Given the description of an element on the screen output the (x, y) to click on. 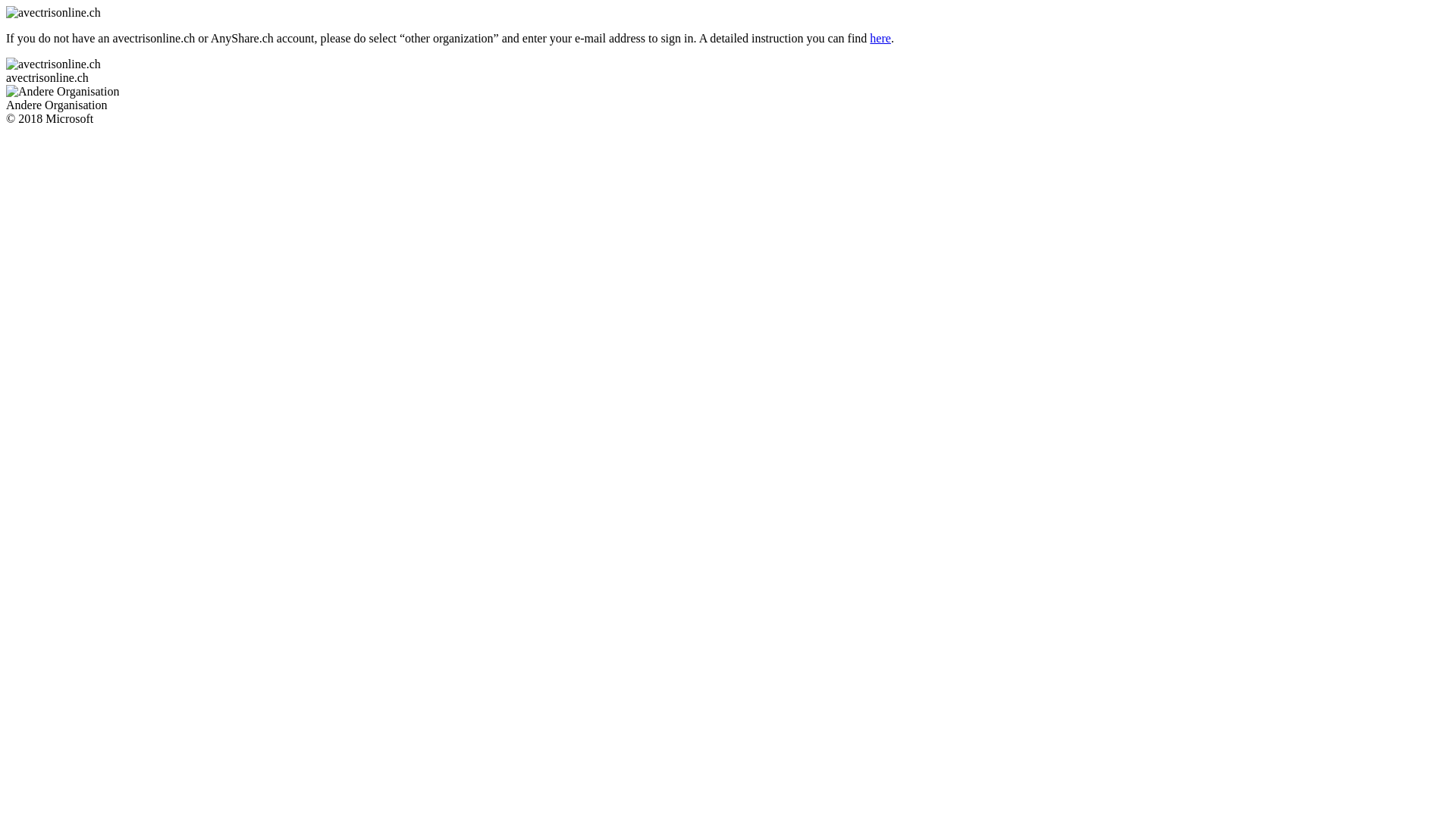
avectrisonline.ch Element type: text (727, 70)
here Element type: text (880, 37)
Andere Organisation Element type: text (727, 98)
